Given the description of an element on the screen output the (x, y) to click on. 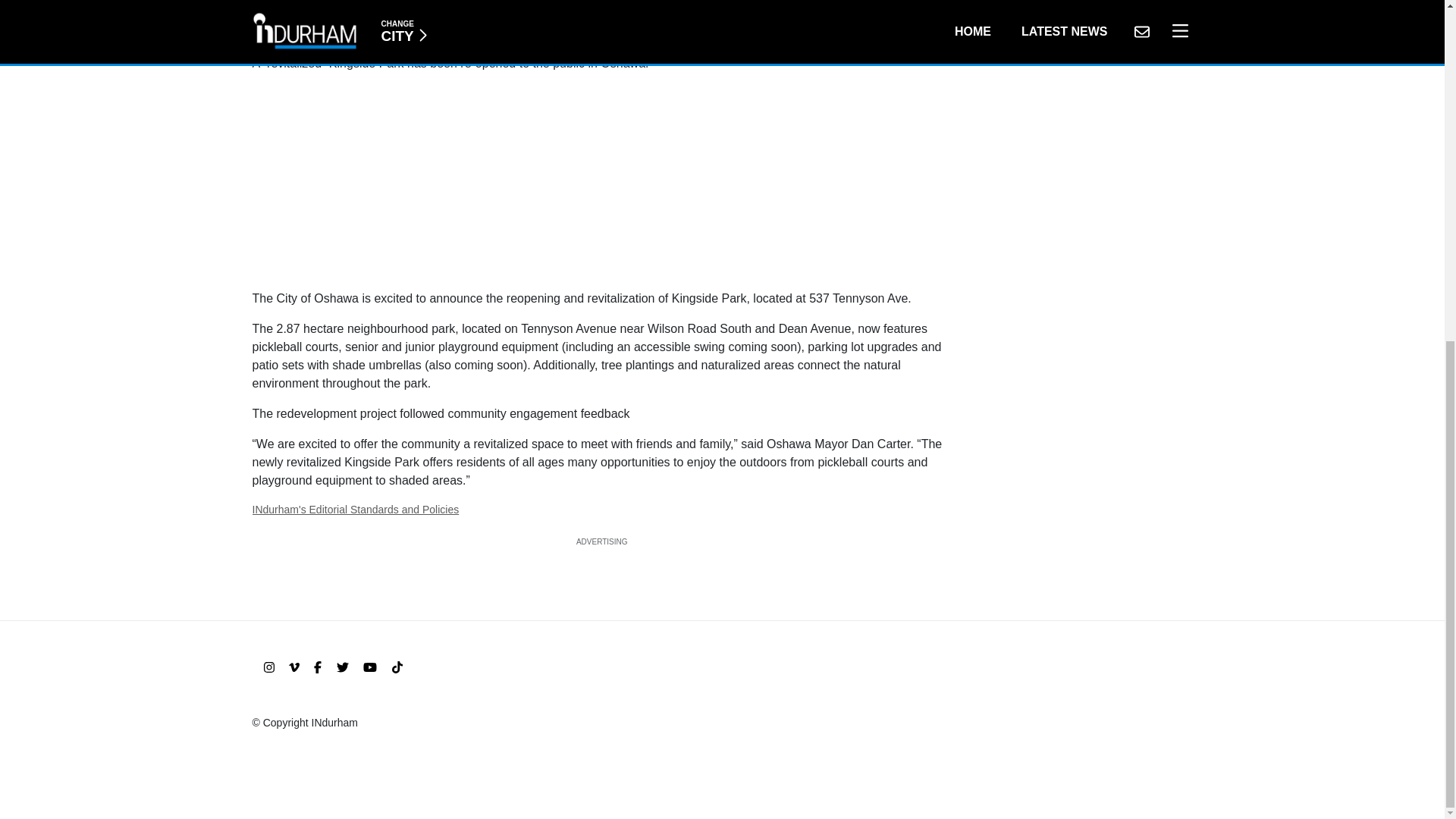
3rd party ad content (601, 179)
